Given the description of an element on the screen output the (x, y) to click on. 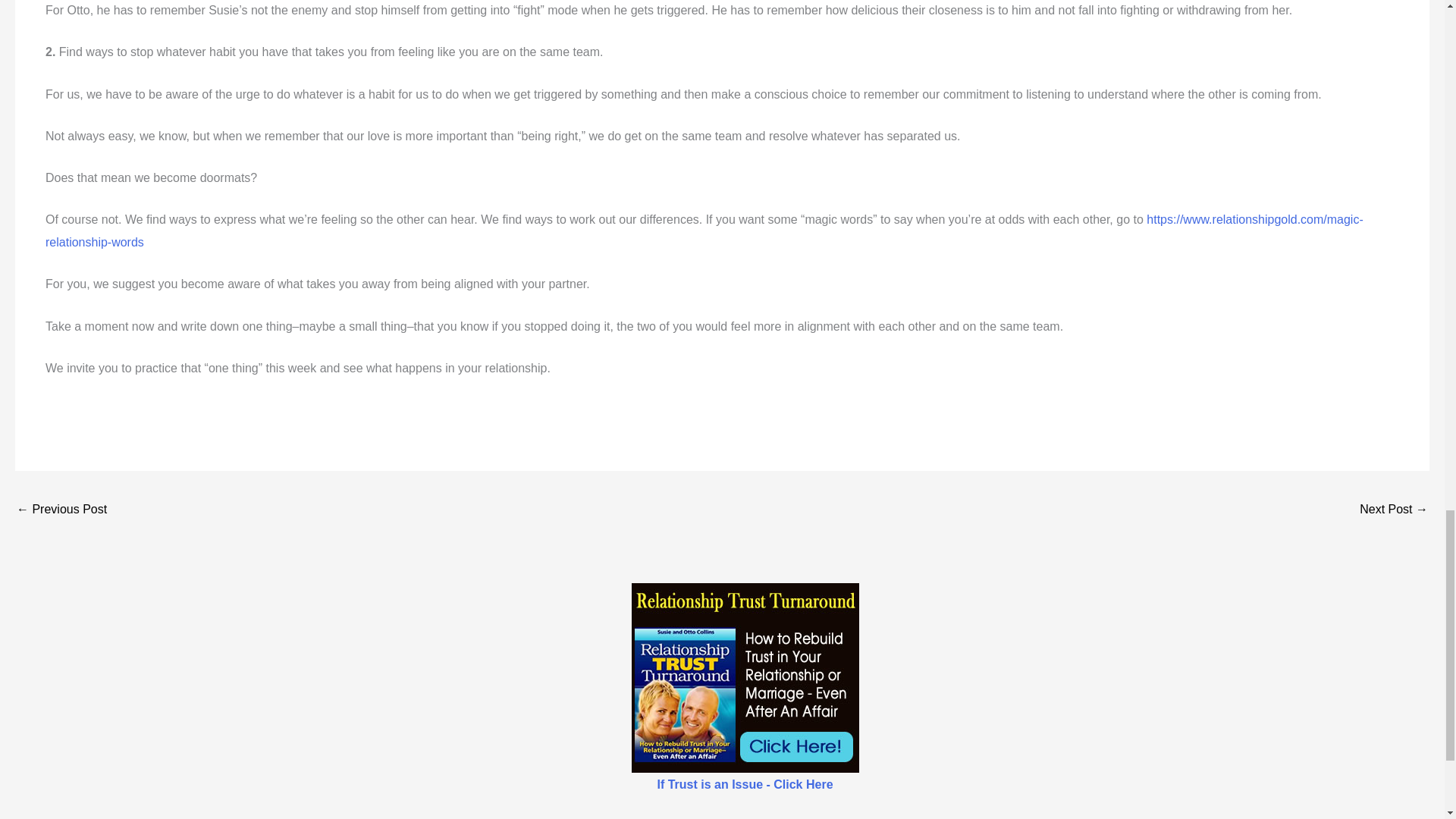
Magic Relationship Words by Susie and Otto Collins (703, 230)
If Trust is an Issue - Click Here (744, 784)
